Given the description of an element on the screen output the (x, y) to click on. 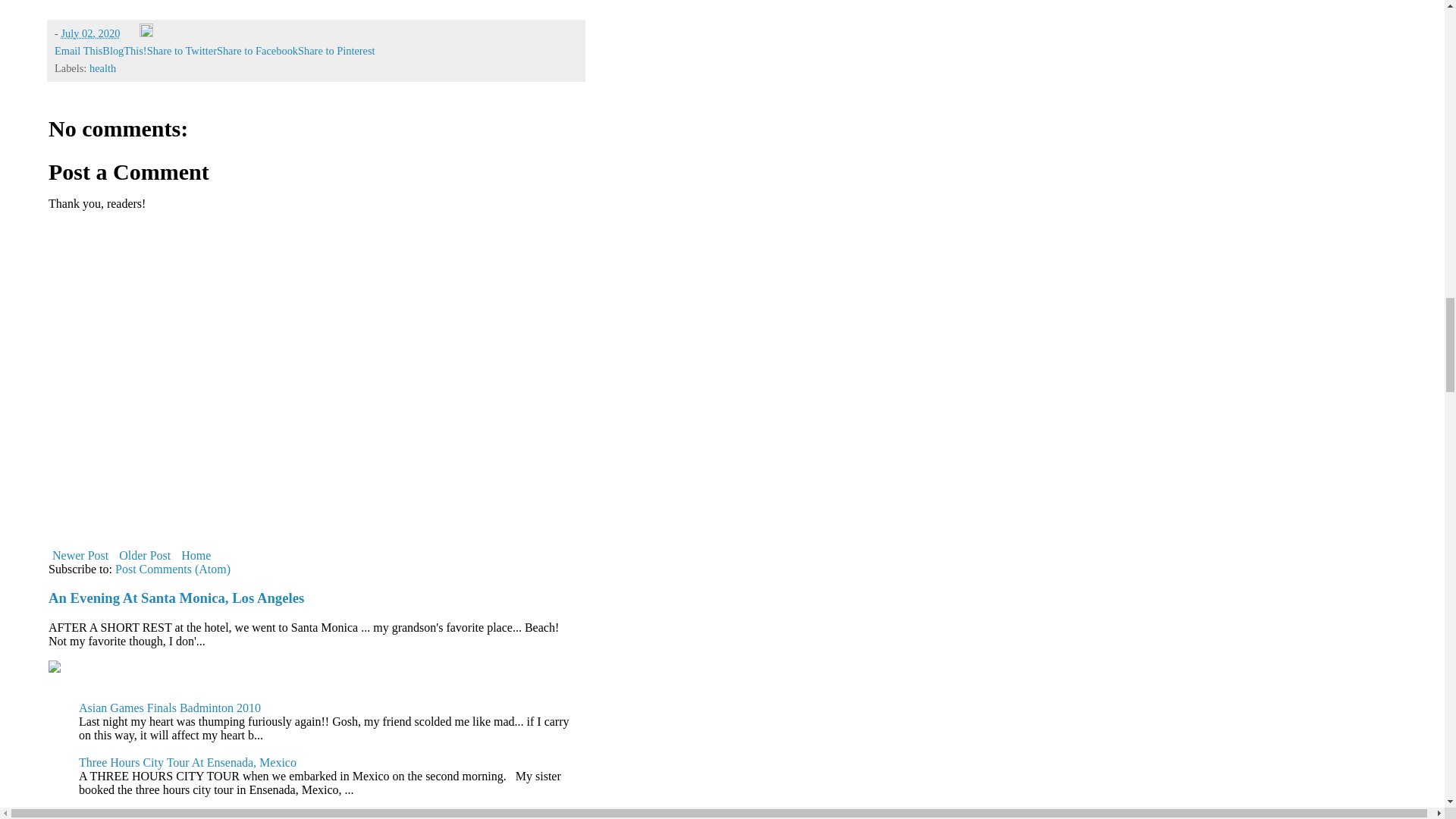
Share to Pinterest (336, 50)
Three Hours City Tour At Ensenada, Mexico (187, 762)
Share to Pinterest (336, 50)
Never Have I Ever... (128, 814)
Email This (78, 50)
An Evening At Santa Monica, Los Angeles (176, 597)
Older Post (144, 555)
Edit Post (145, 33)
Share to Twitter (181, 50)
Asian Games Finals Badminton 2010 (169, 707)
BlogThis! (124, 50)
July 02, 2020 (90, 33)
permanent link (90, 33)
Share to Twitter (181, 50)
health (102, 68)
